Given the description of an element on the screen output the (x, y) to click on. 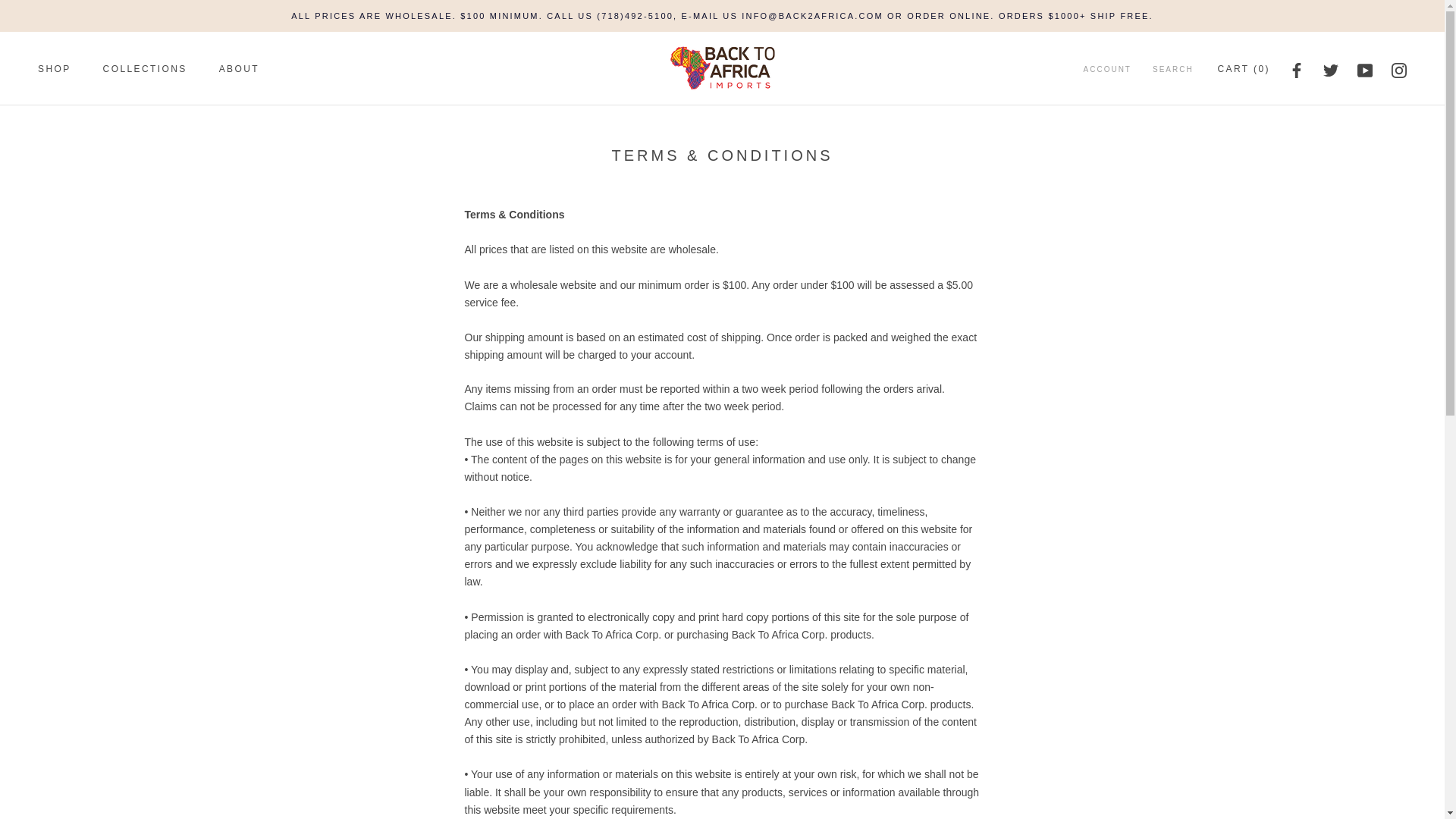
SHOP (54, 68)
